Given the description of an element on the screen output the (x, y) to click on. 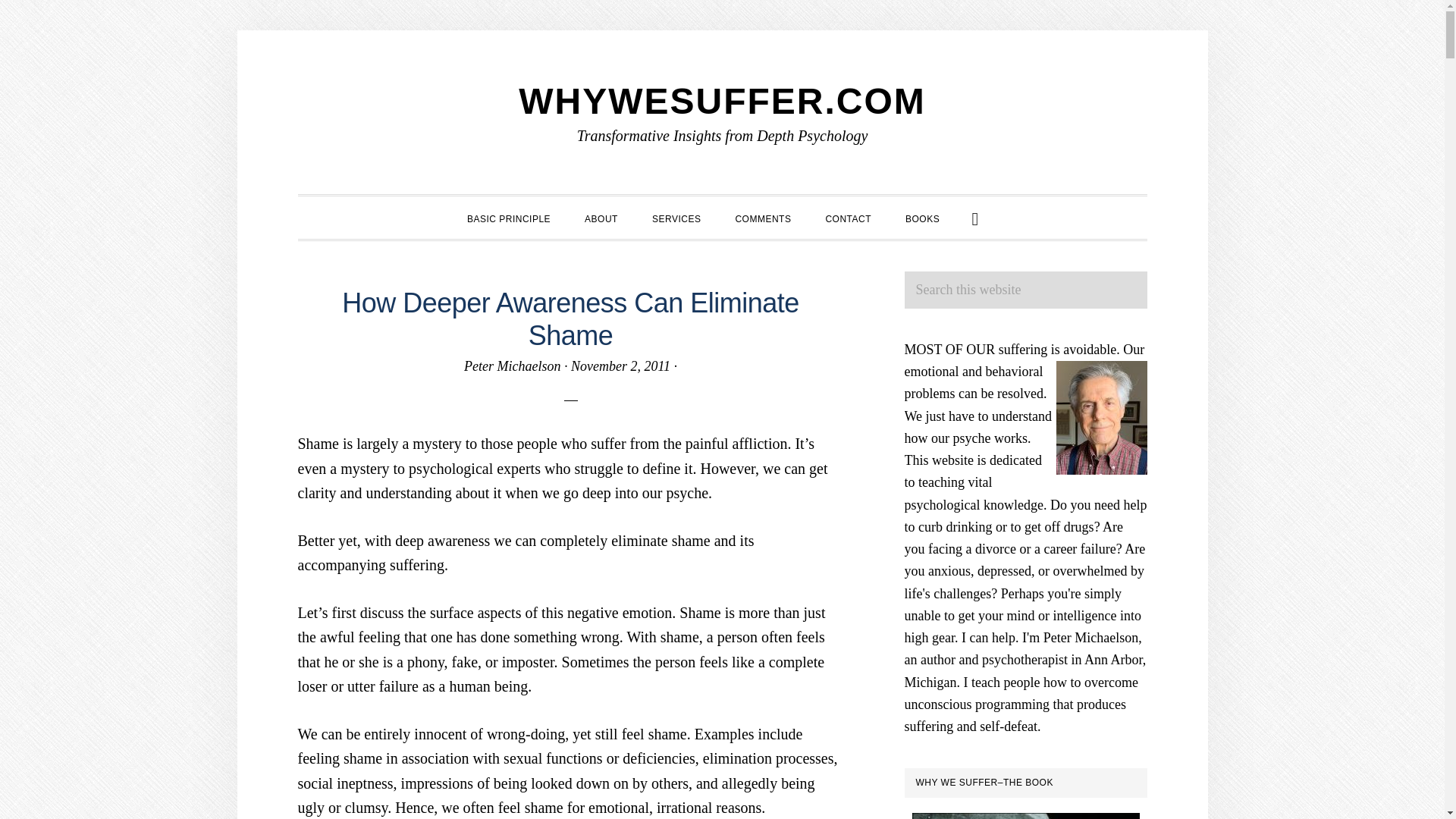
BOOKS (922, 216)
BASIC PRINCIPLE (508, 216)
ABOUT (601, 216)
SERVICES (676, 216)
CONTACT (847, 216)
Peter Michaelson (512, 365)
COMMENTS (762, 216)
WHYWESUFFER.COM (722, 101)
